Given the description of an element on the screen output the (x, y) to click on. 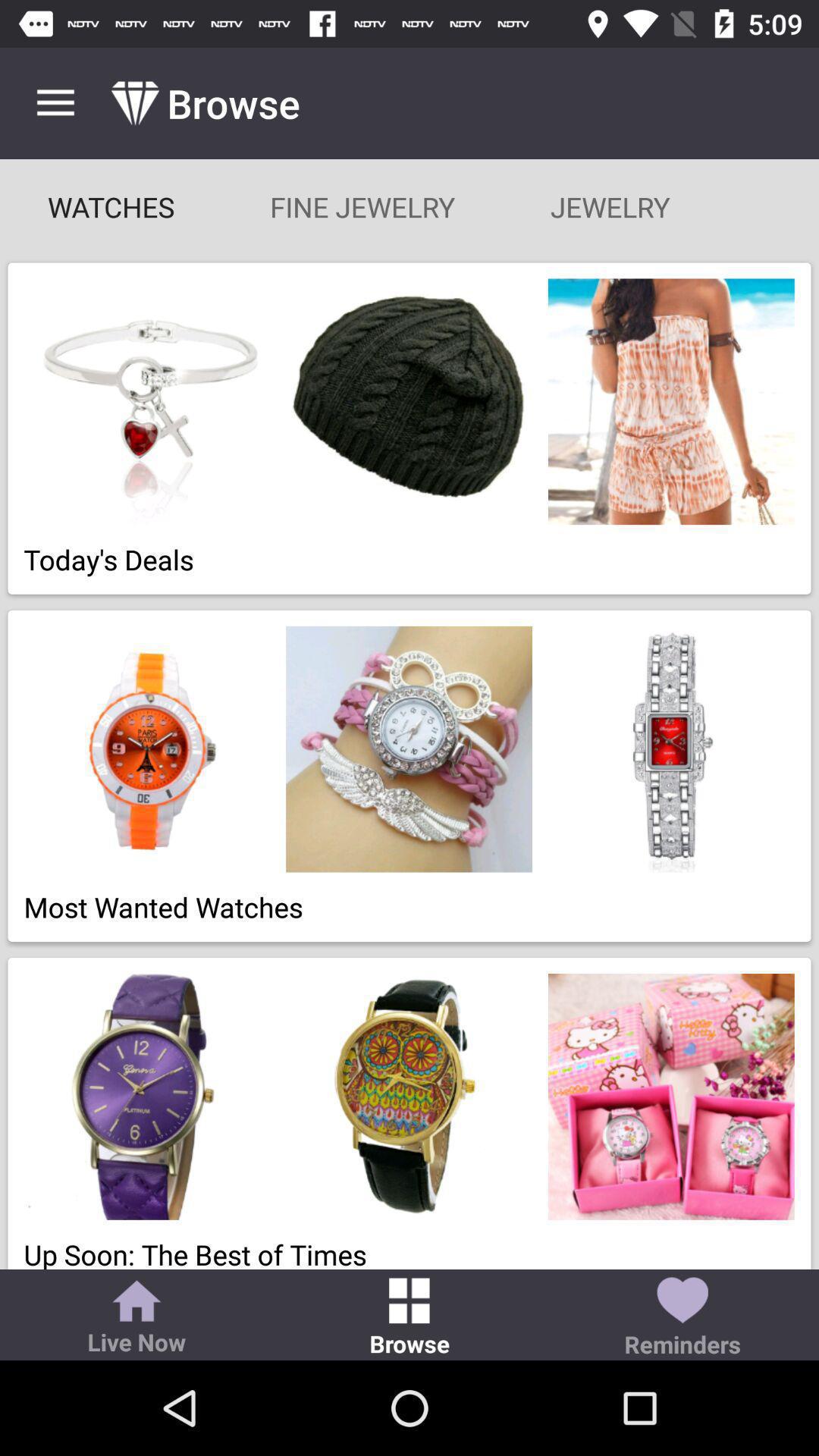
turn on the item next to the browse icon (136, 1318)
